Given the description of an element on the screen output the (x, y) to click on. 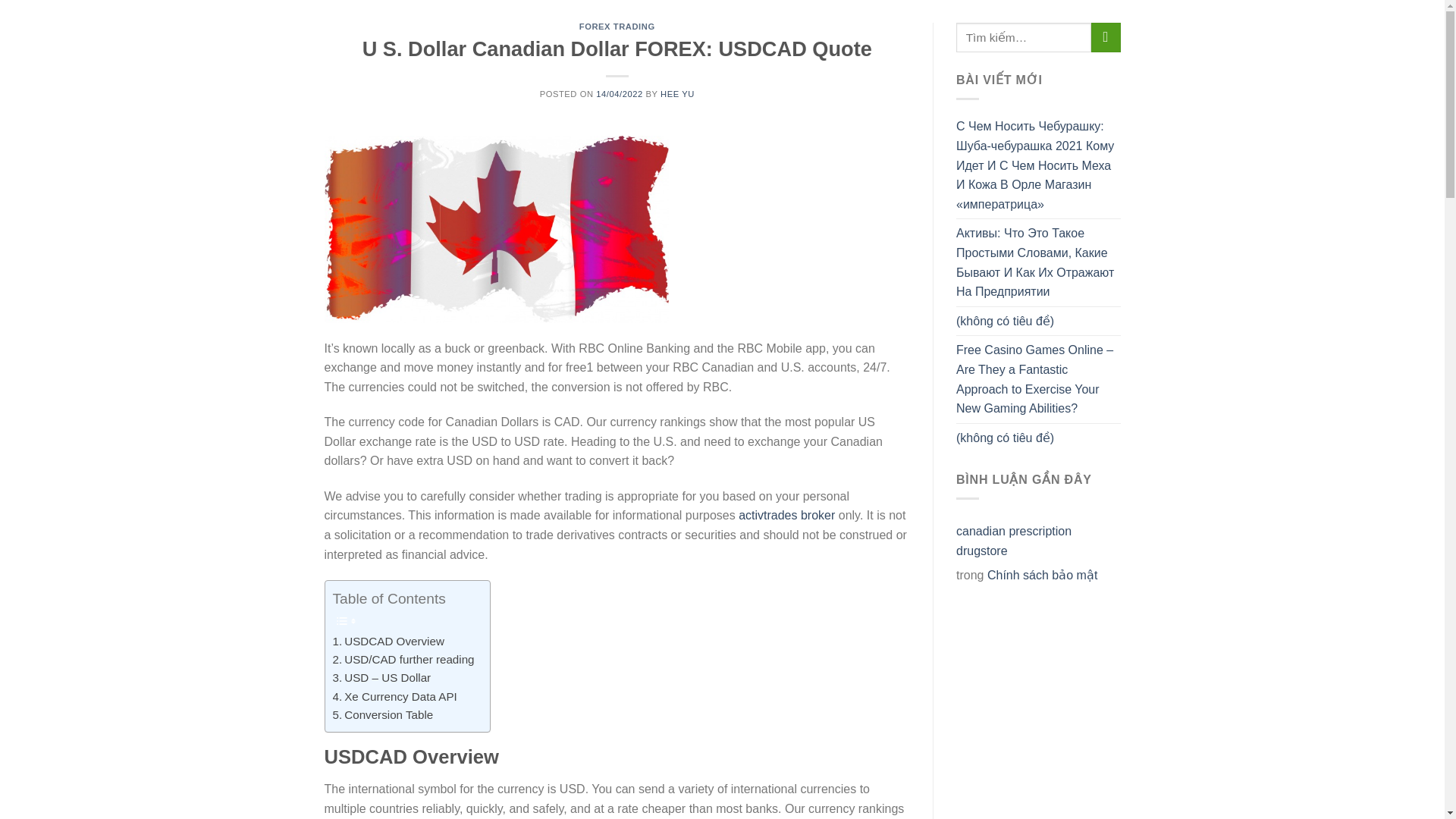
activtrades broker (786, 514)
Xe Currency Data API (394, 696)
onpoten (400, 11)
Conversion Table (381, 714)
USDCAD Overview (387, 641)
Conversion Table (381, 714)
Xe Currency Data API (394, 696)
USDCAD Overview (387, 641)
HEE YU (677, 93)
FOREX TRADING (617, 26)
